Given the description of an element on the screen output the (x, y) to click on. 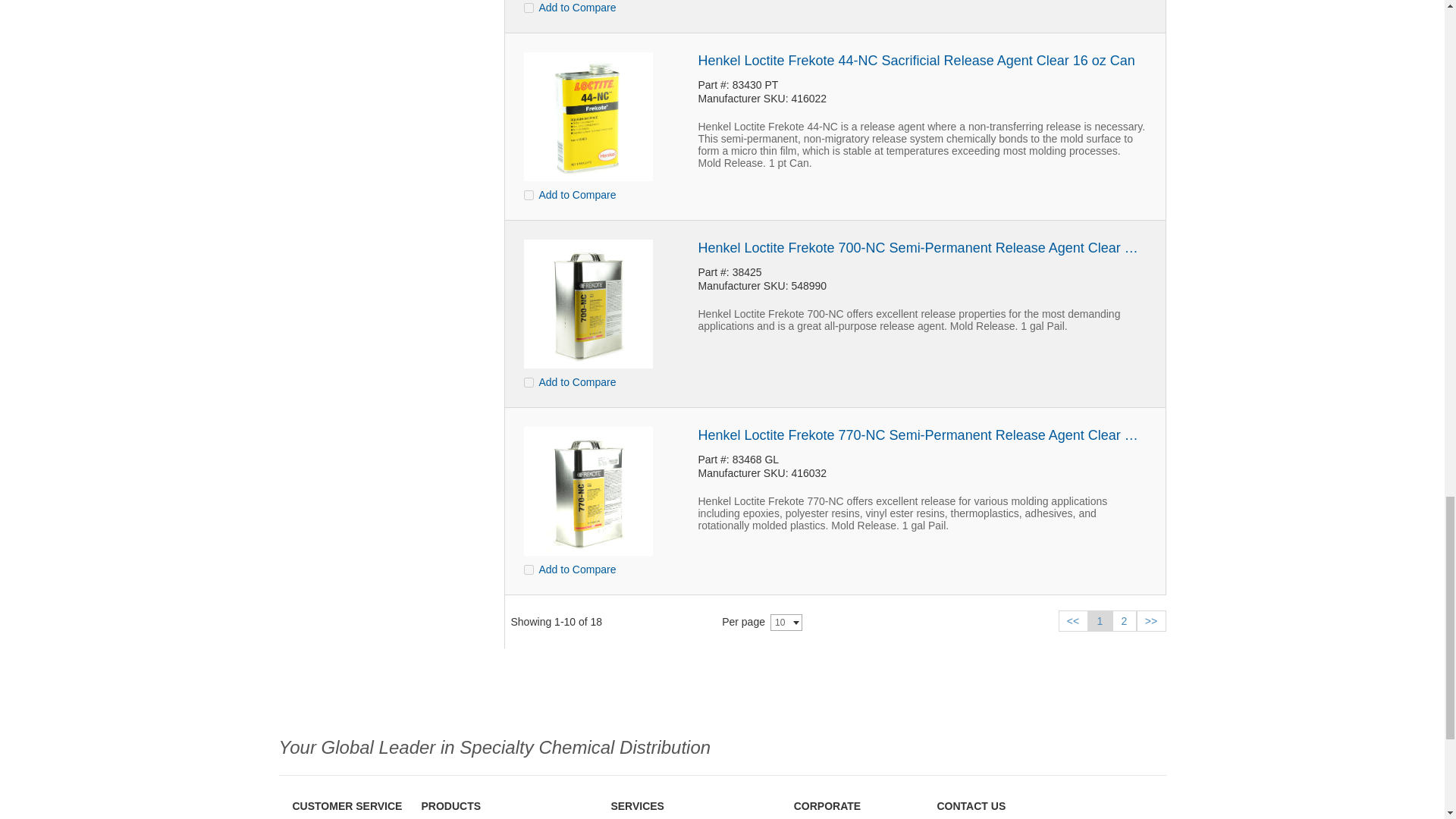
on (527, 194)
on (527, 569)
on (527, 382)
on (527, 8)
